Given the description of an element on the screen output the (x, y) to click on. 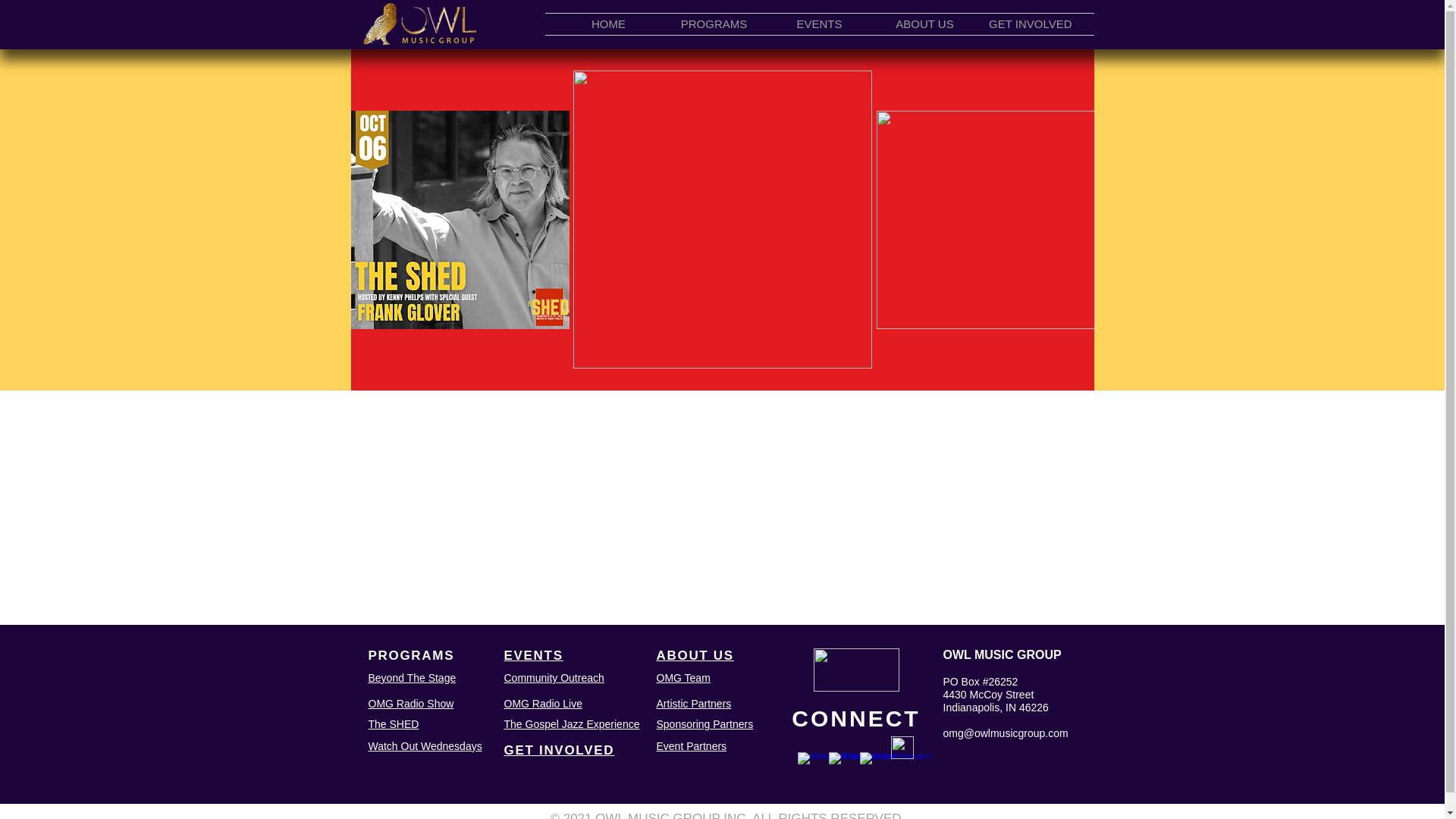
OMG Radio Live (541, 703)
Community Outreach (553, 677)
EVENTS (819, 24)
Beyond The Stage (412, 677)
ABOUT US (924, 24)
Sponsoring Partners (705, 724)
Watch Out Wednesdays (424, 746)
OMG Radio Show (411, 703)
The Gospel Jazz Experience (571, 724)
Artistic Partners (694, 703)
